Given the description of an element on the screen output the (x, y) to click on. 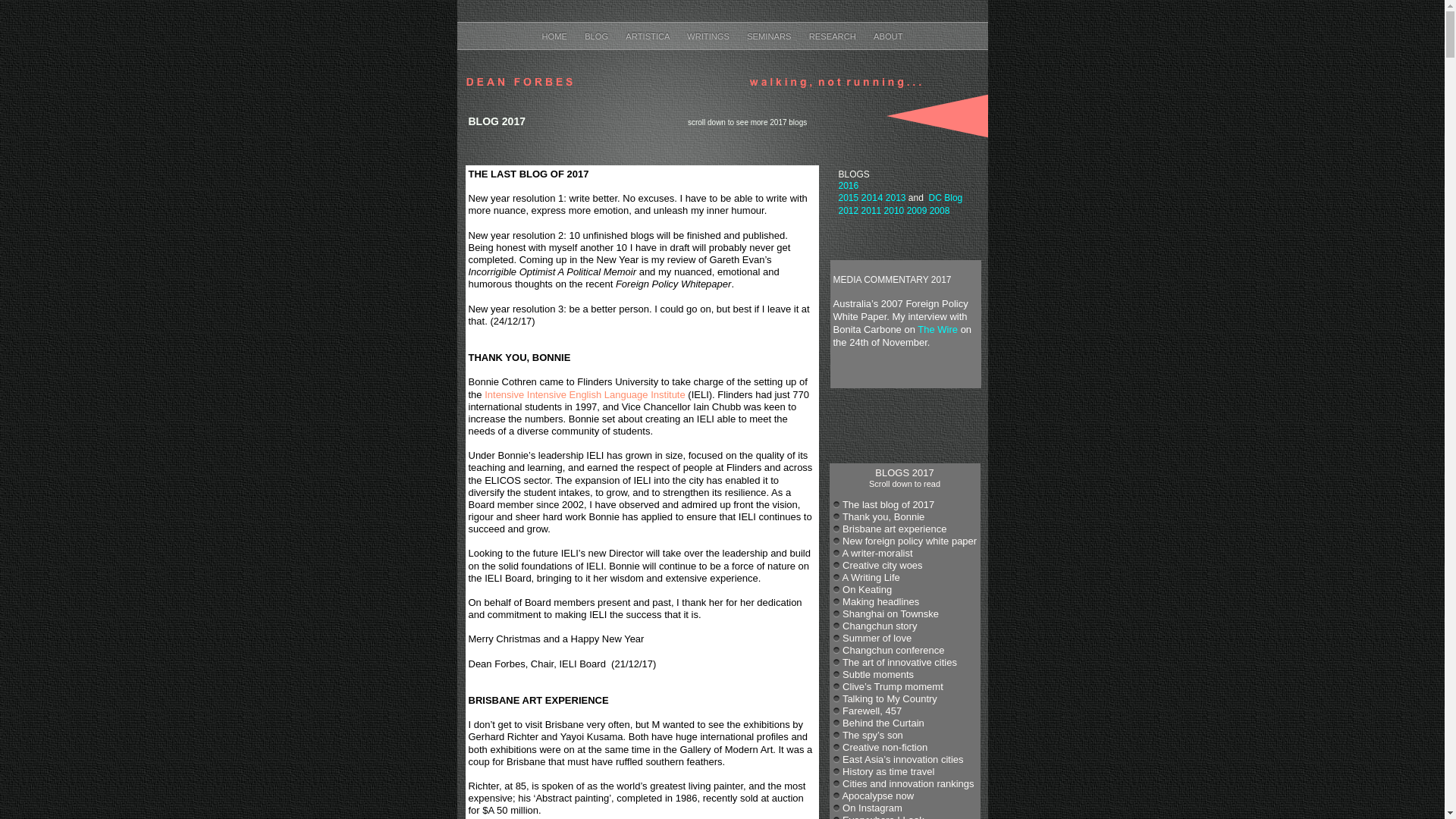
BLOG Element type: text (597, 35)
2008 Element type: text (939, 210)
2012 Element type: text (848, 210)
Intensive Intensive English Language Institute Element type: text (584, 394)
2010 Element type: text (892, 210)
ABOUT Element type: text (888, 35)
HOME Element type: text (555, 35)
2014 Element type: text (872, 197)
2013 Element type: text (895, 197)
2016 Element type: text (848, 185)
RESEARCH Element type: text (833, 35)
ARTISTICA Element type: text (648, 35)
SEMINARS Element type: text (769, 35)
The Wire Element type: text (937, 329)
2009 Element type: text (916, 210)
DC Blog Element type: text (945, 197)
2015 Element type: text (848, 197)
2011 Element type: text (871, 210)
WRITINGS Element type: text (709, 35)
